Given the description of an element on the screen output the (x, y) to click on. 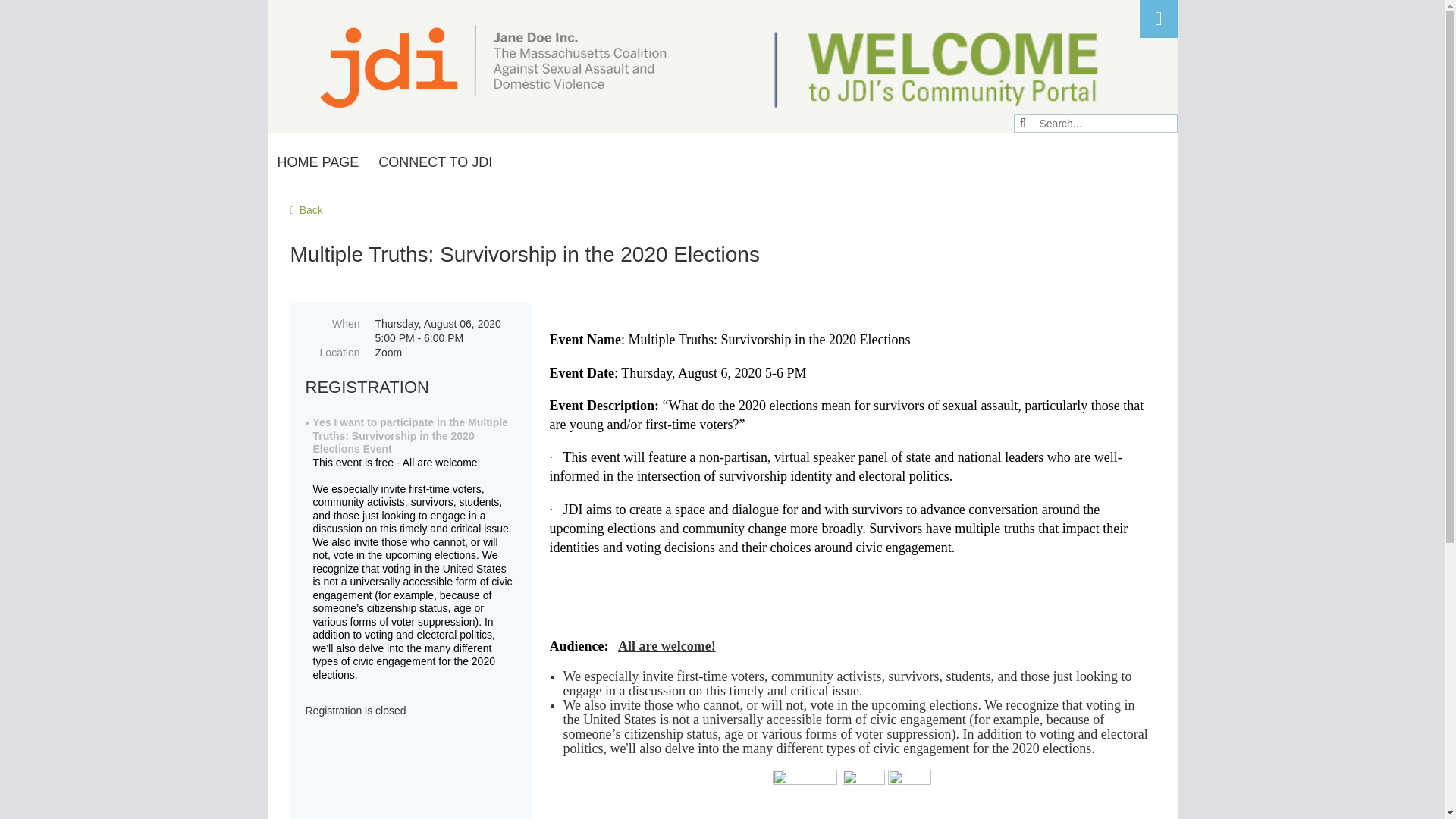
Log in (1157, 18)
HOME PAGE (317, 162)
Home Page (317, 162)
Back (305, 209)
CONNECT TO JDI (435, 162)
Log in (1157, 18)
Connect to JDI (435, 162)
